Given the description of an element on the screen output the (x, y) to click on. 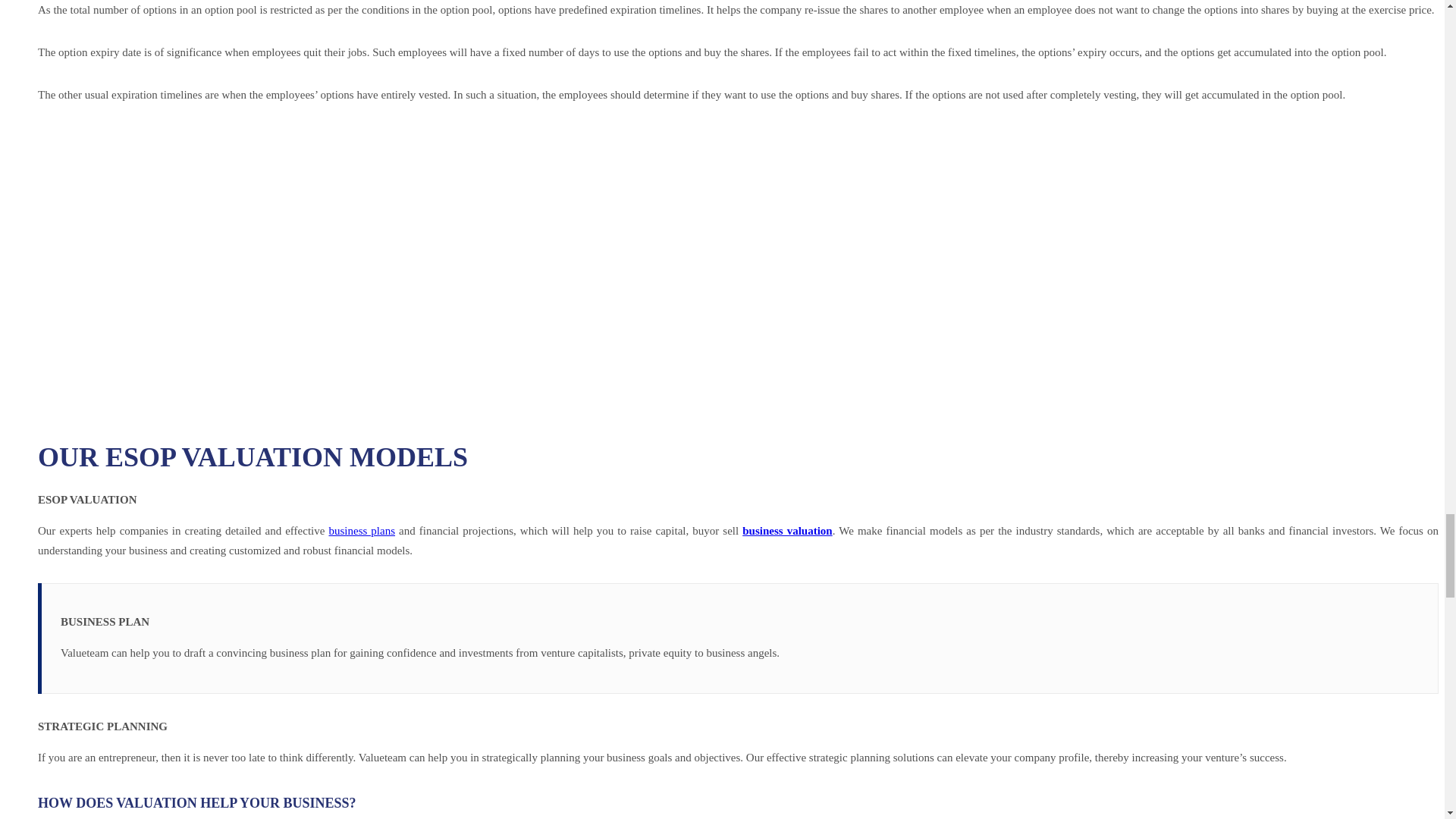
How ESOP Valuation Impacts Your Company? (279, 263)
